Given the description of an element on the screen output the (x, y) to click on. 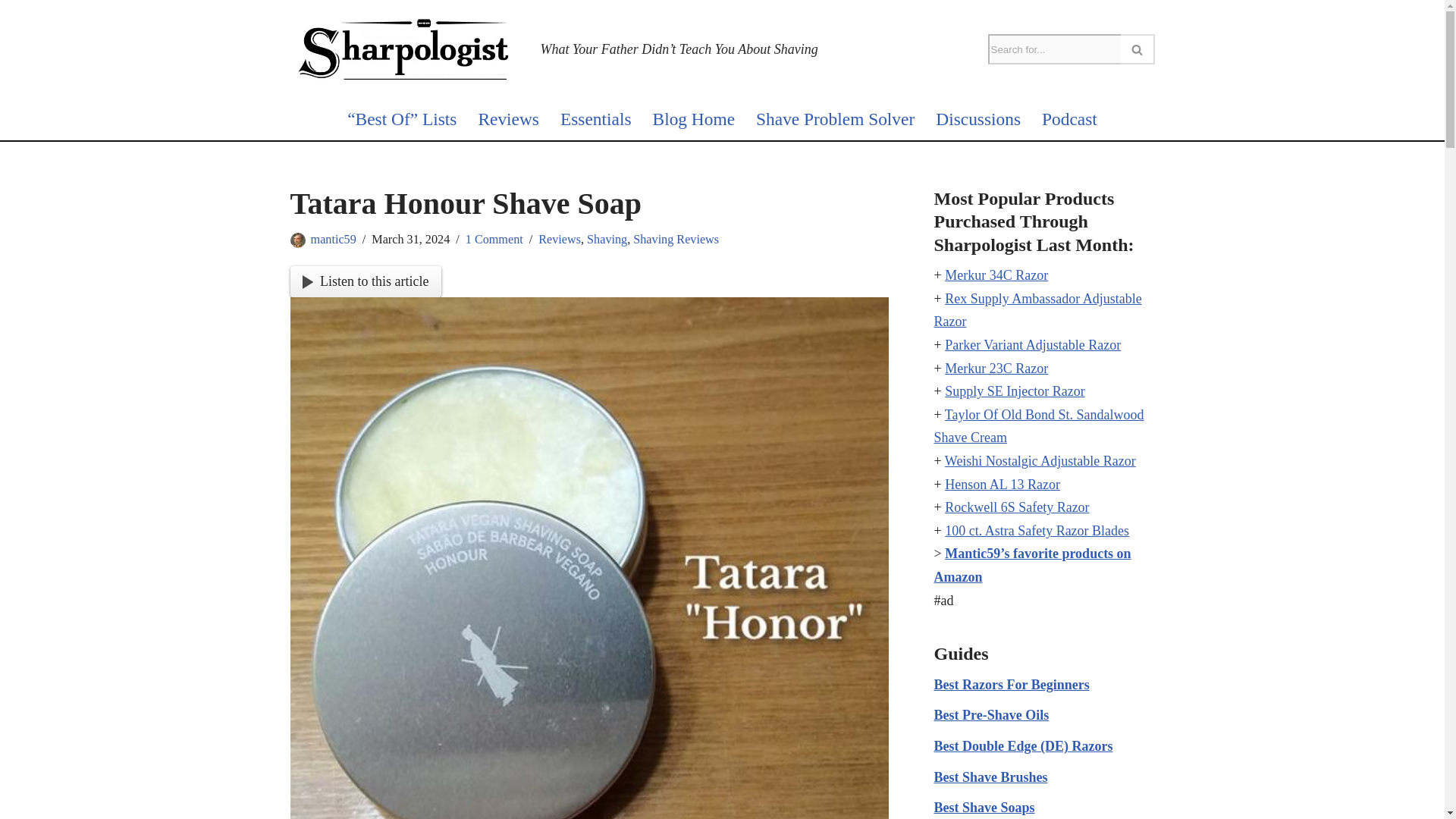
Reviews (559, 238)
Essentials (595, 118)
Shave Problem Solver (834, 118)
Posts by mantic59 (333, 238)
Shaving Reviews (676, 238)
Shaving (606, 238)
mantic59 (333, 238)
Podcast (1069, 118)
Reviews (507, 118)
Skip to content (11, 31)
Blog Home (693, 118)
Discussions (978, 118)
1 Comment (493, 238)
